Given the description of an element on the screen output the (x, y) to click on. 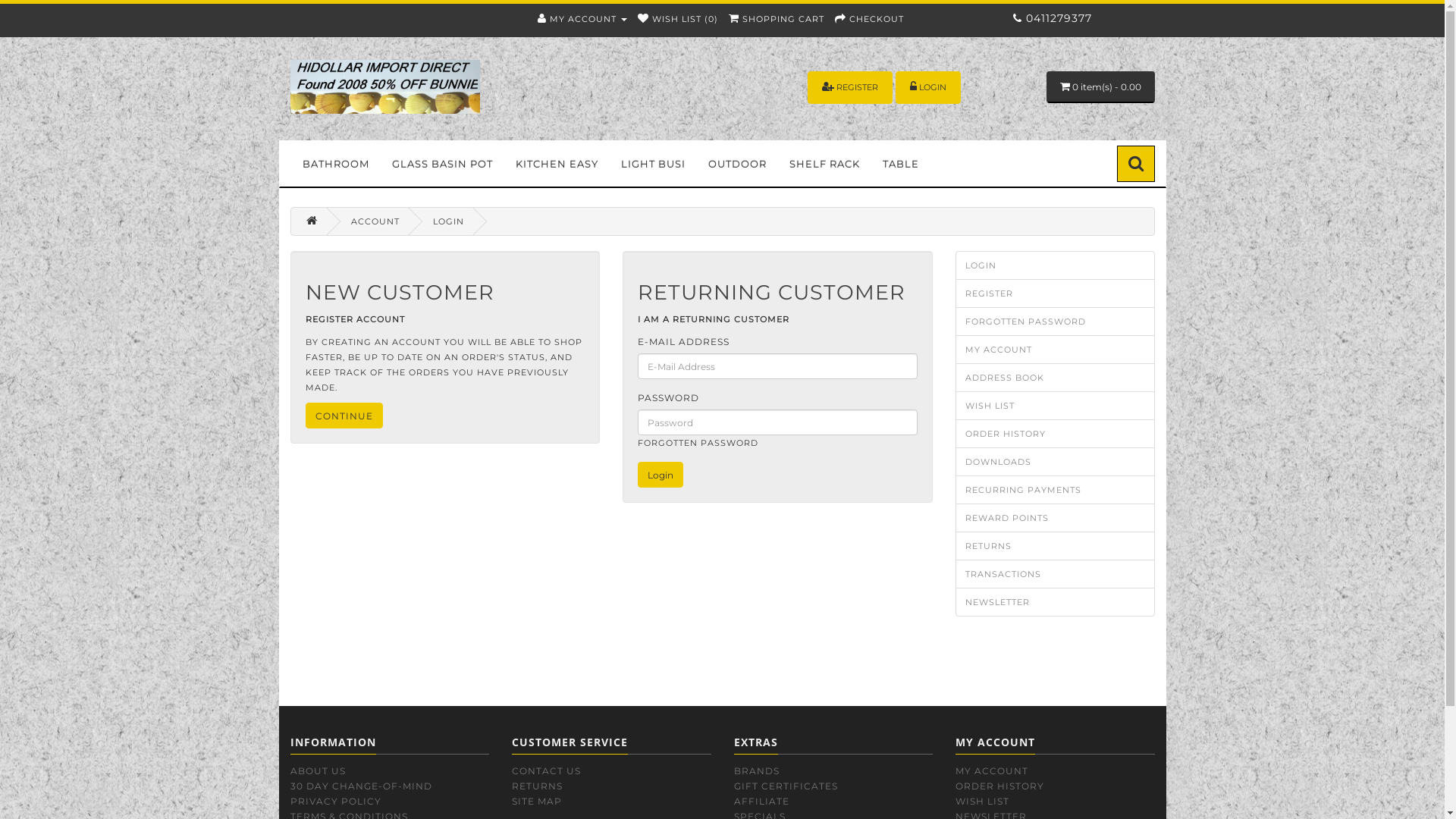
REGISTER Element type: text (857, 86)
LOGIN Element type: text (932, 86)
WISH LIST Element type: text (982, 800)
SHOPPING CART Element type: text (775, 18)
LOGIN Element type: text (1054, 265)
REGISTER Element type: text (1054, 293)
PRIVACY POLICY Element type: text (334, 800)
SHELF RACK Element type: text (824, 163)
LOGIN Element type: text (927, 87)
30 DAY CHANGE-OF-MIND Element type: text (360, 785)
ORDER HISTORY Element type: text (999, 785)
FORGOTTEN PASSWORD Element type: text (1054, 321)
Login Element type: text (660, 474)
AFFILIATE Element type: text (761, 800)
MY ACCOUNT Element type: text (1054, 349)
SITE MAP Element type: text (536, 800)
TABLE Element type: text (899, 163)
REWARD POINTS Element type: text (1054, 517)
RETURNS Element type: text (536, 785)
ADDRESS BOOK Element type: text (1054, 377)
BATHROOM Element type: text (335, 163)
ORDER HISTORY Element type: text (1054, 433)
GLASS BASIN POT Element type: text (442, 163)
MY ACCOUNT Element type: text (991, 770)
REGISTER Element type: text (849, 87)
GIFT CERTIFICATES Element type: text (785, 785)
BRANDS Element type: text (756, 770)
CONTACT US Element type: text (545, 770)
WISH LIST Element type: text (1054, 405)
LIGHT BUSI Element type: text (652, 163)
DOWNLOADS Element type: text (1054, 461)
CONTINUE Element type: text (343, 415)
0 item(s) - 0.00 Element type: text (1100, 87)
CHECKOUT Element type: text (868, 18)
LOGIN Element type: text (447, 221)
ABOUT US Element type: text (317, 770)
MY ACCOUNT Element type: text (581, 18)
RECURRING PAYMENTS Element type: text (1054, 489)
FORGOTTEN PASSWORD Element type: text (697, 442)
ACCOUNT Element type: text (374, 221)
TRANSACTIONS Element type: text (1054, 573)
WISH LIST (0) Element type: text (677, 18)
NEWSLETTER Element type: text (1054, 601)
RETURNS Element type: text (1054, 545)
OUTDOOR Element type: text (736, 163)
KITCHEN EASY Element type: text (555, 163)
